Given the description of an element on the screen output the (x, y) to click on. 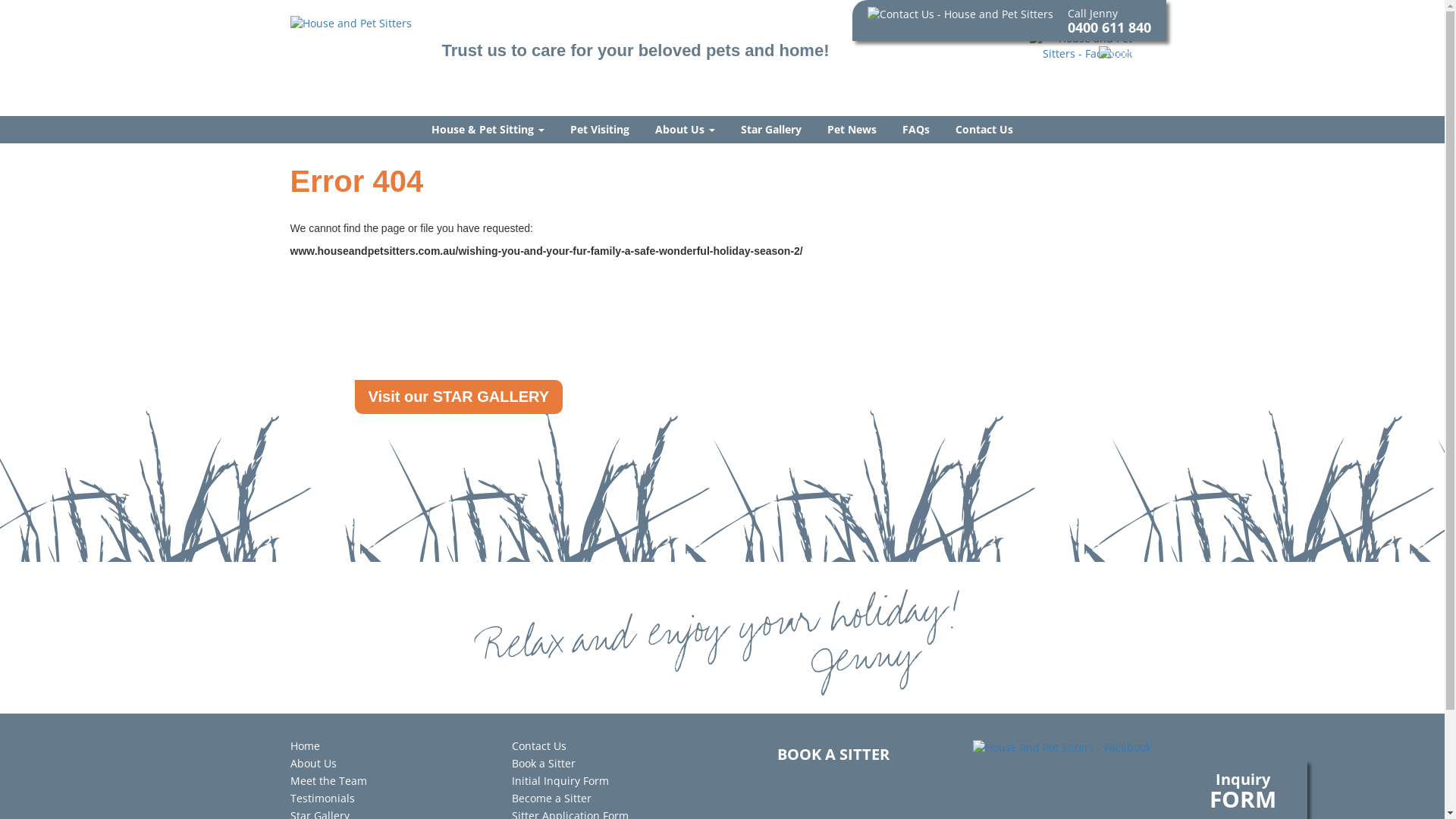
Initial Inquiry Form Element type: text (559, 780)
About Us Element type: text (684, 129)
Visit our STAR GALLERY Element type: text (458, 396)
Contact Us Element type: text (538, 745)
Book a Sitter Element type: text (543, 763)
Contact Us Element type: text (984, 129)
Pet News Element type: text (851, 129)
FAQs Element type: text (916, 129)
Become a Sitter Element type: text (551, 797)
Star Gallery Element type: text (770, 129)
About Us Element type: text (312, 763)
Meet the Team Element type: text (327, 780)
Call Jenny
0400 611 840 Element type: text (1009, 13)
Home Element type: text (304, 745)
Pet Visiting Element type: text (599, 129)
Testimonials Element type: text (321, 797)
BOOK A SITTER Element type: text (833, 753)
House & Pet Sitting Element type: text (487, 129)
